Given the description of an element on the screen output the (x, y) to click on. 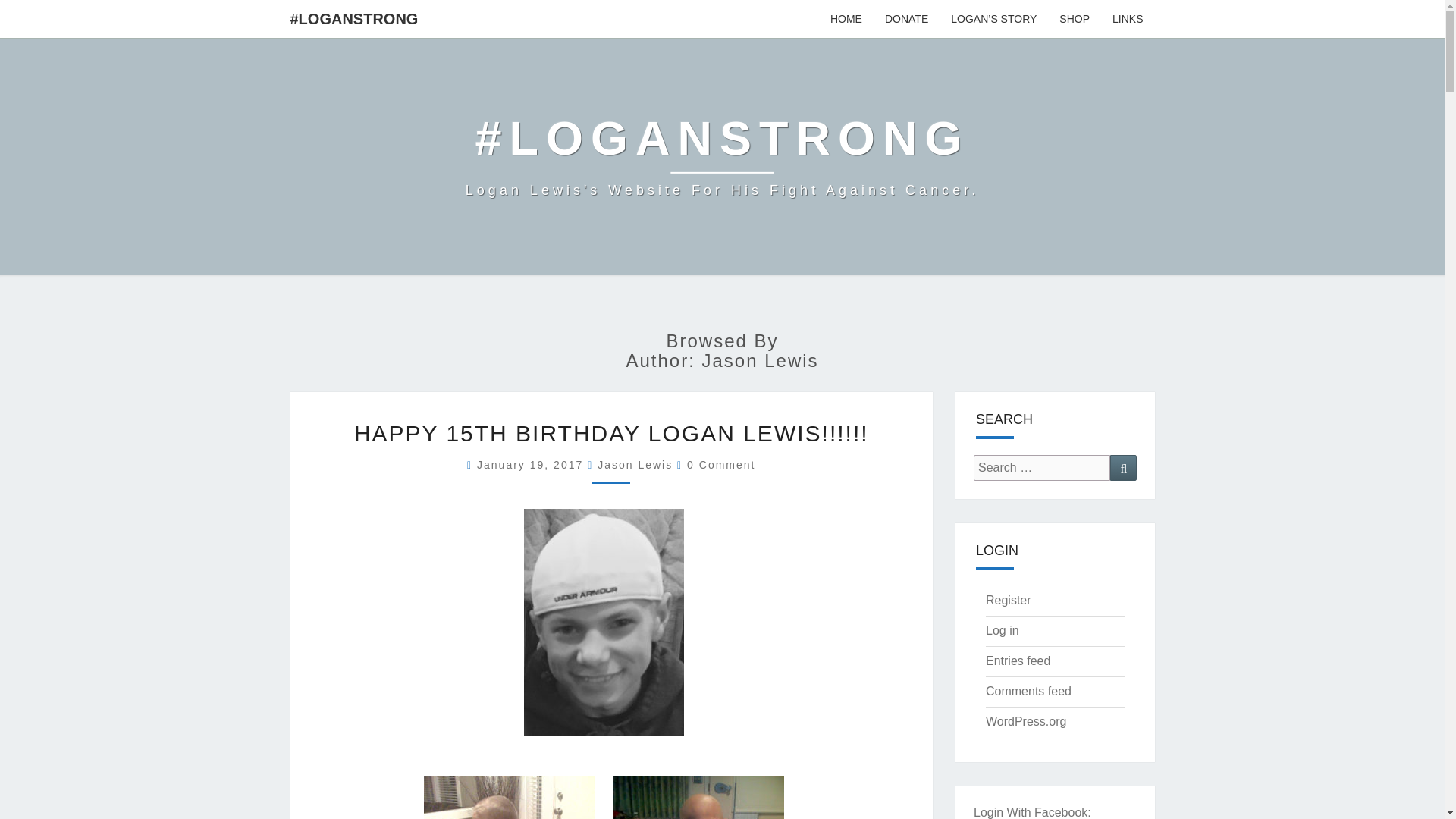
Donate (906, 18)
HOME (845, 18)
DONATE (906, 18)
Logan's Story (993, 18)
0 Comment (721, 464)
Links (1127, 18)
HAPPY 15TH BIRTHDAY LOGAN LEWIS!!!!!! (611, 432)
View all posts by Jason Lewis (634, 464)
SHOP (1074, 18)
January 19, 2017 (532, 464)
